Given the description of an element on the screen output the (x, y) to click on. 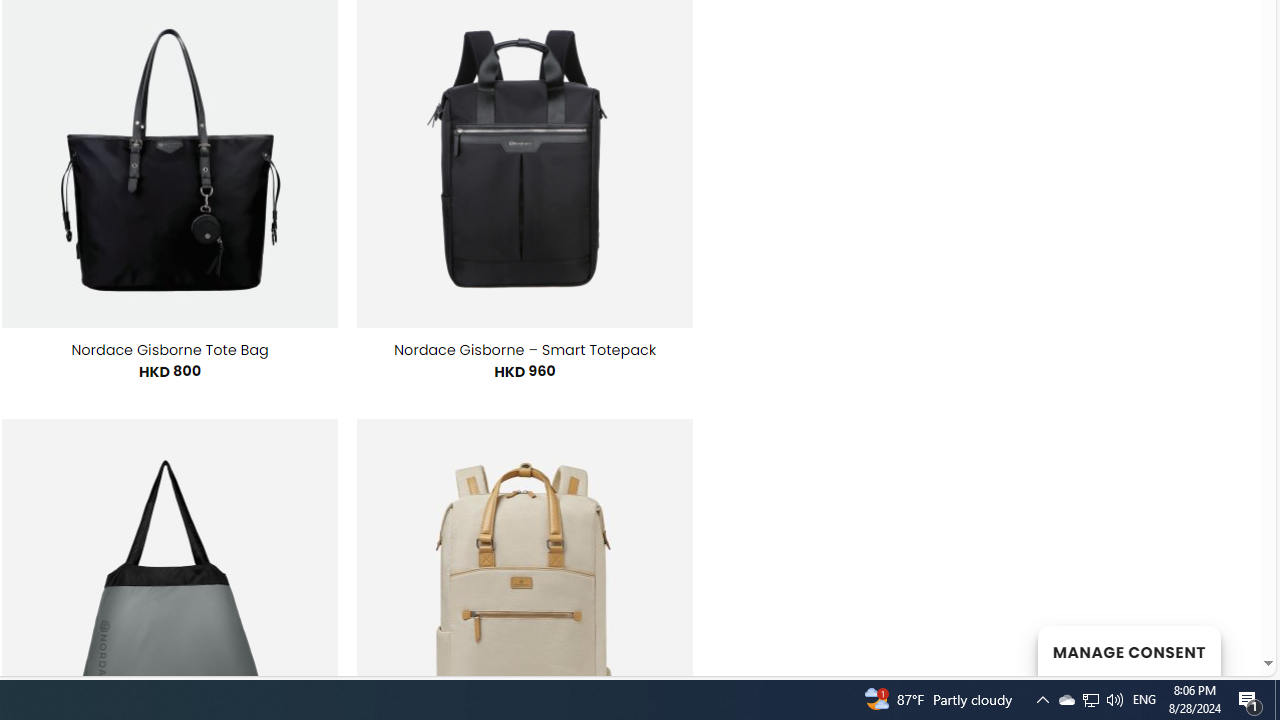
Nordace Gisborne Tote Bag (169, 350)
MANAGE CONSENT (1128, 650)
